Given the description of an element on the screen output the (x, y) to click on. 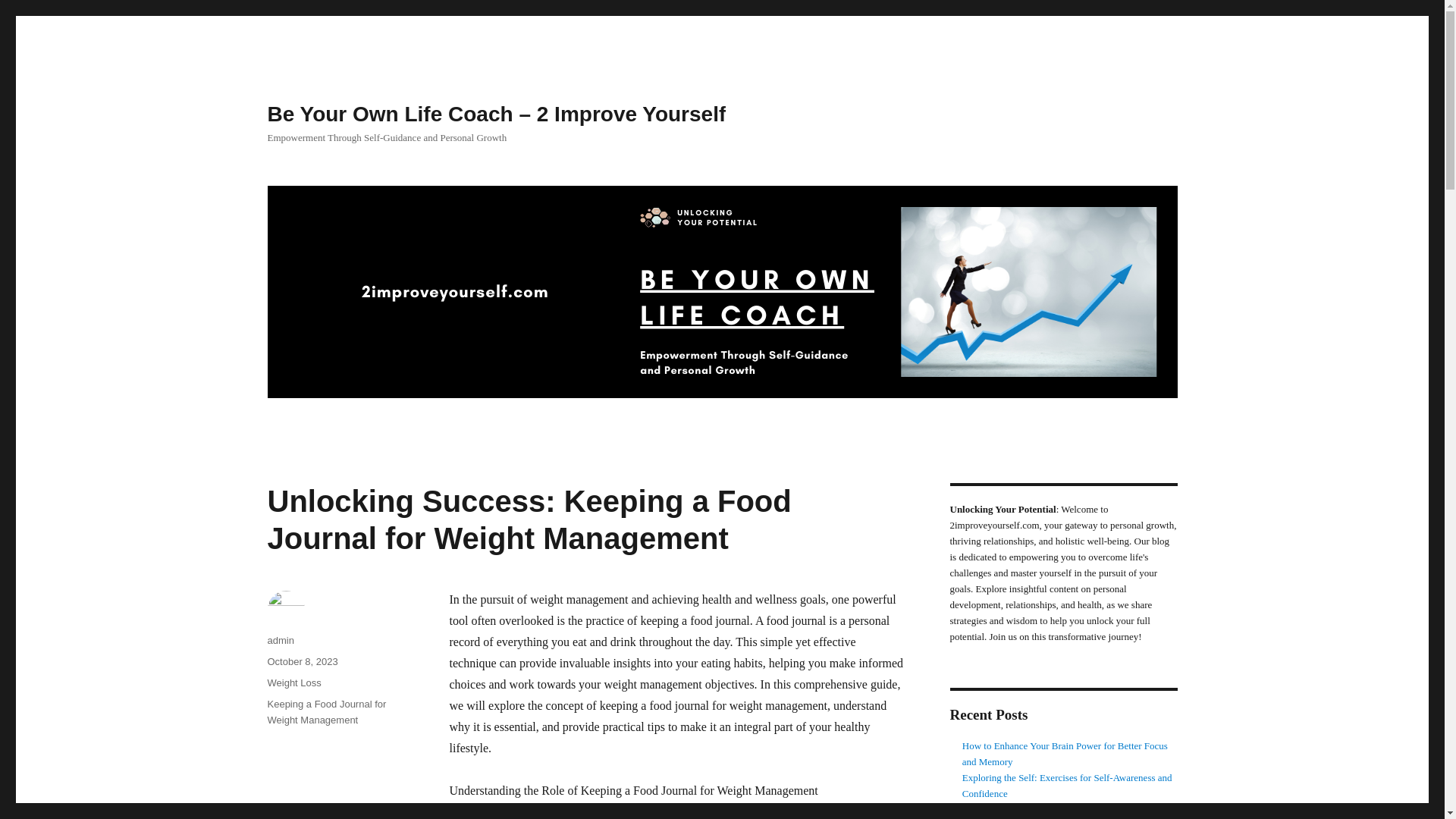
October 8, 2023 (301, 661)
Weight Loss (293, 682)
How to Enhance Your Brain Power for Better Focus and Memory (1064, 753)
admin (280, 640)
Keeping a Food Journal for Weight Management (325, 711)
